Given the description of an element on the screen output the (x, y) to click on. 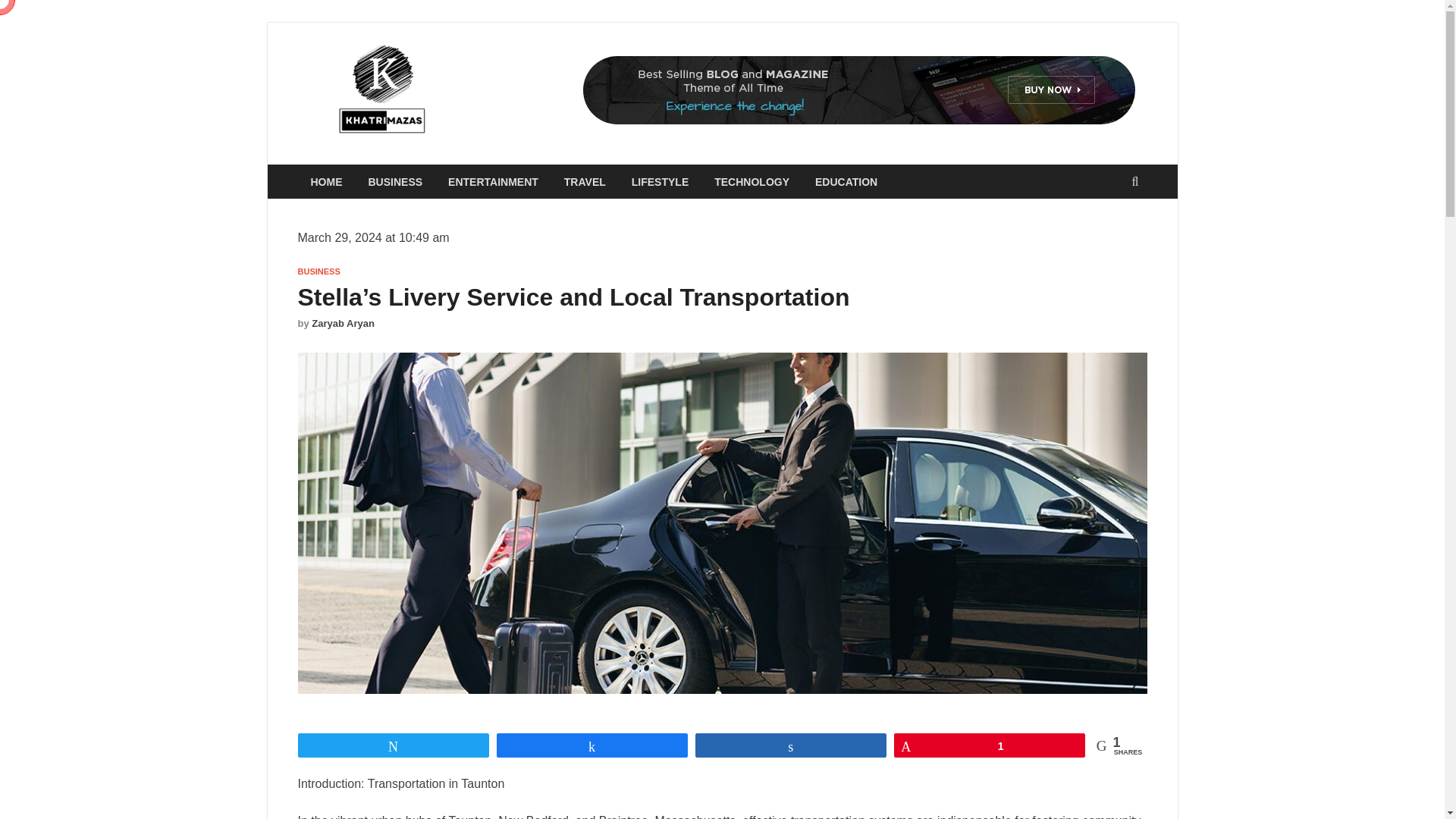
1 (989, 744)
ENTERTAINMENT (493, 181)
BUSINESS (318, 271)
TRAVEL (584, 181)
Zaryab Aryan (342, 323)
Khatrimazas (522, 74)
HOME (326, 181)
BUSINESS (395, 181)
LIFESTYLE (659, 181)
EDUCATION (845, 181)
